Given the description of an element on the screen output the (x, y) to click on. 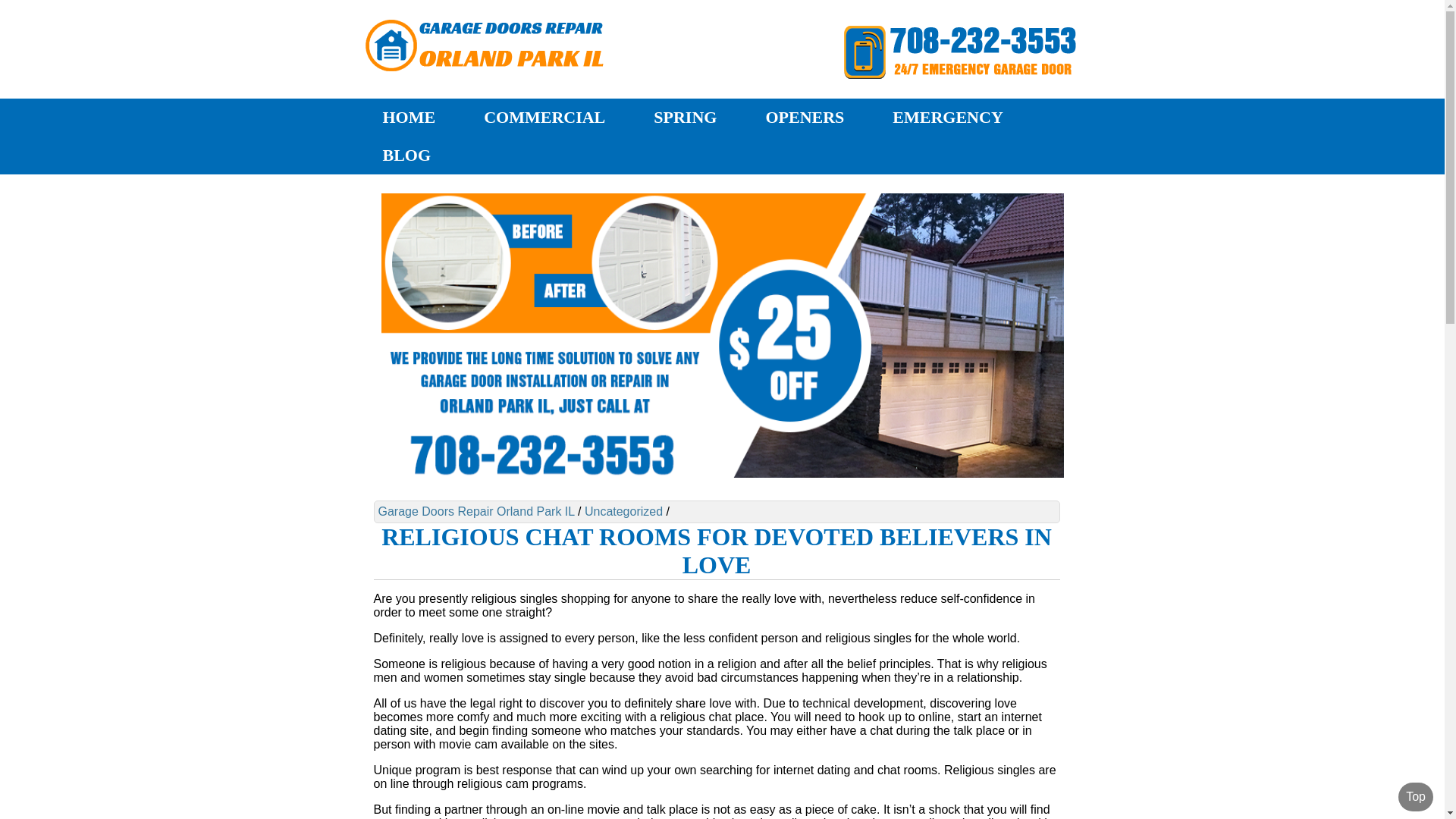
Top (1414, 796)
EMERGENCY (947, 116)
HOME (408, 116)
BLOG (406, 154)
SPRING (684, 116)
OPENERS (804, 116)
Uncategorized (623, 511)
Garage Doors Repair Orland Park IL (475, 511)
COMMERCIAL (544, 116)
